Given the description of an element on the screen output the (x, y) to click on. 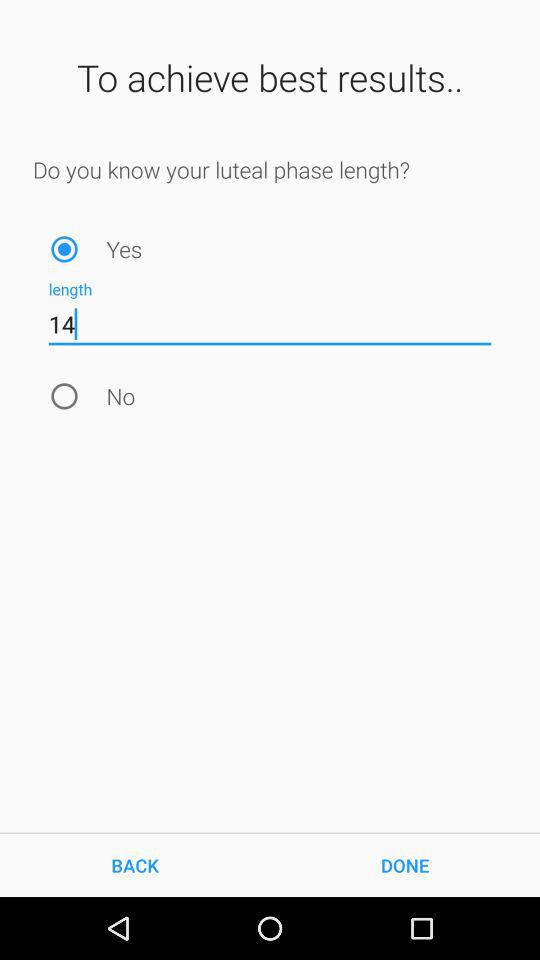
flip until done item (405, 864)
